Given the description of an element on the screen output the (x, y) to click on. 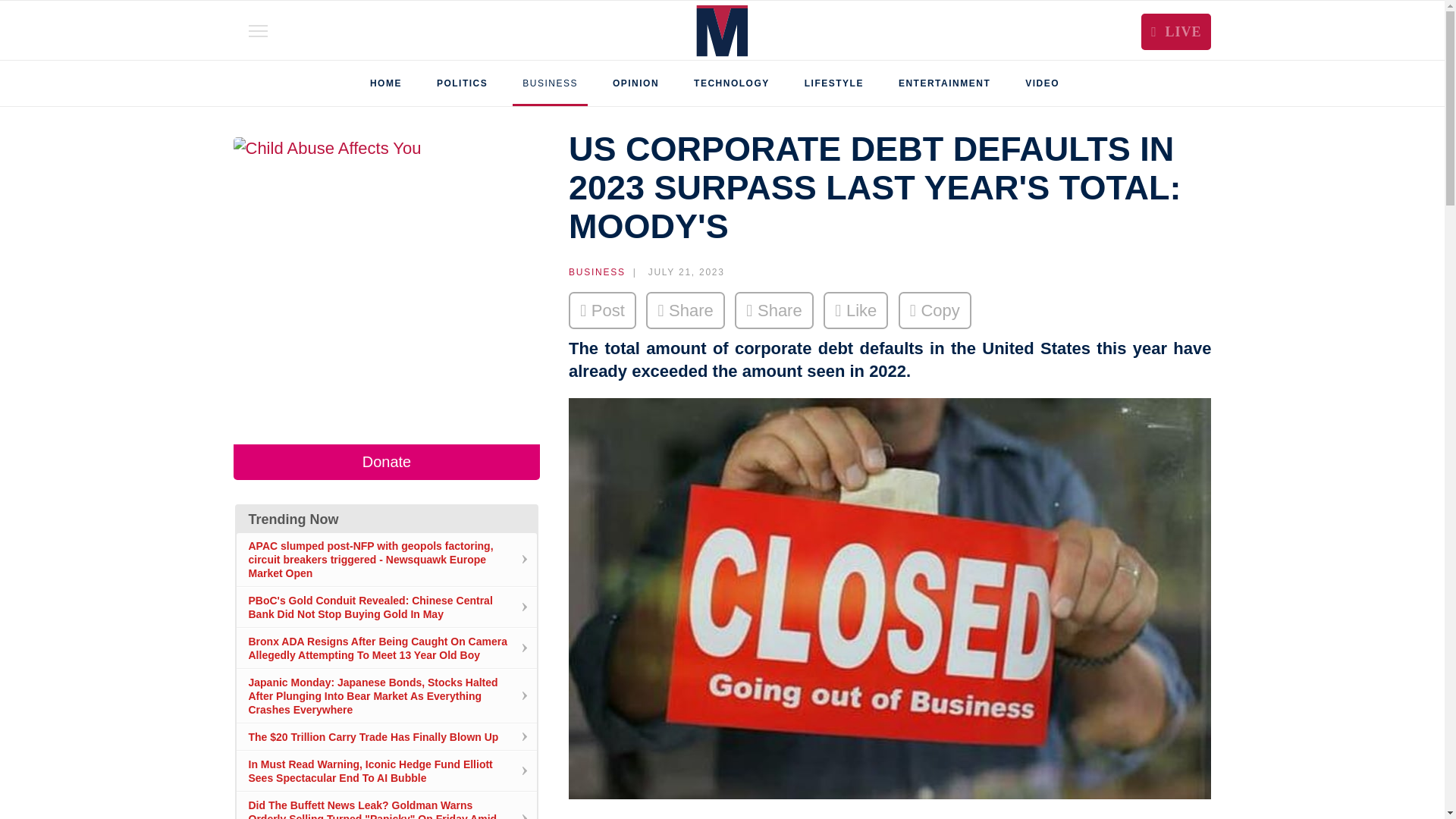
Created: July 21, 2023 (675, 272)
OPINION (635, 83)
Share (774, 310)
Post (602, 310)
LIVE (1176, 31)
Share (685, 310)
LIFESTYLE (833, 83)
Category: Business (597, 272)
ENTERTAINMENT (944, 83)
Please Donate! We rely on your support. (386, 461)
